Given the description of an element on the screen output the (x, y) to click on. 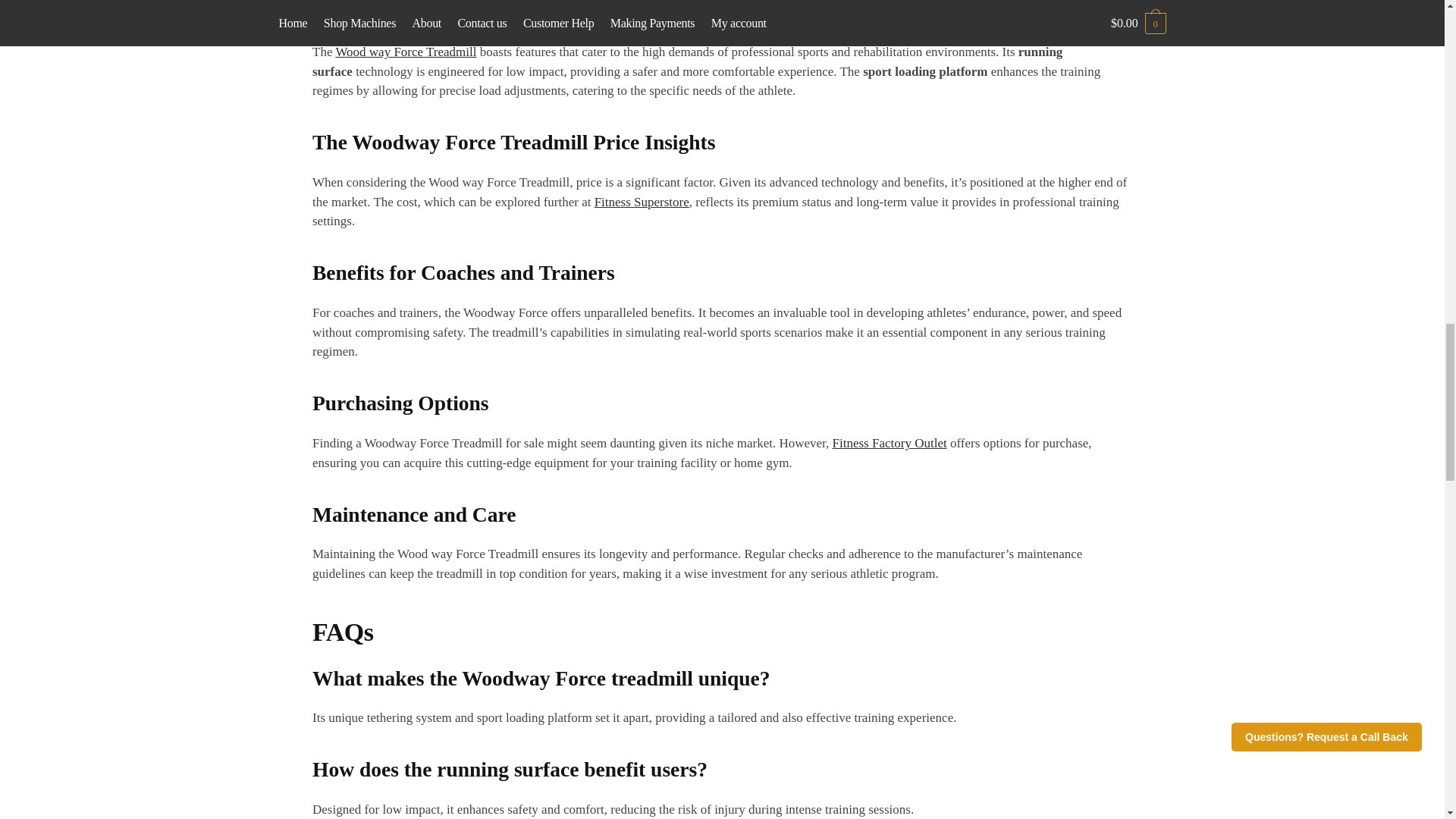
Fitness Factory Outlet (889, 442)
Fitness Superstore (641, 201)
Wood way Force Treadmill (405, 51)
